Given the description of an element on the screen output the (x, y) to click on. 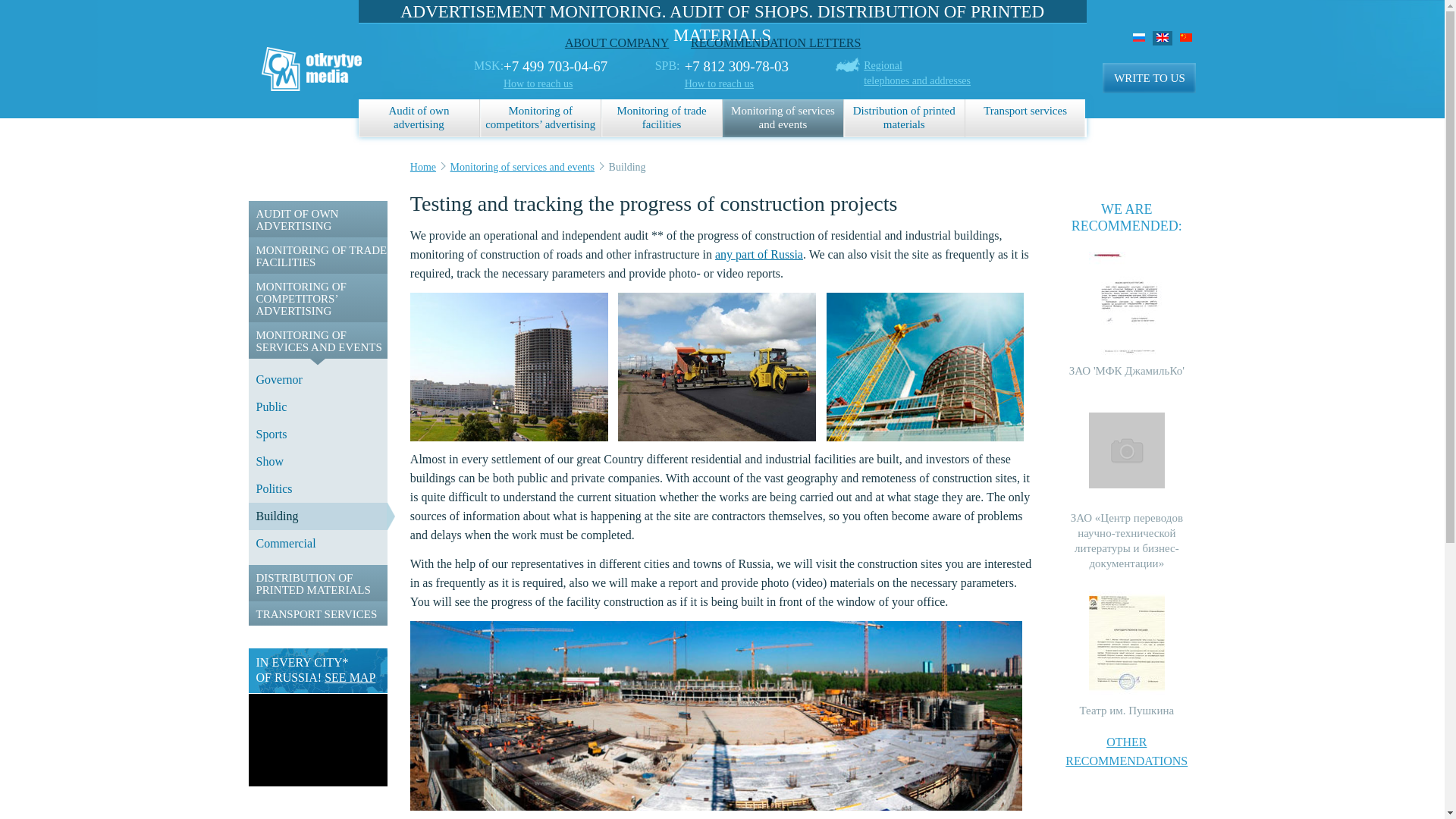
ABOUT COMPANY (616, 42)
Otkrytye Media (917, 73)
Distribution of printed materials (318, 56)
WRITE TO US (903, 118)
RECOMMENDATION LETTERS (1148, 78)
AUDIT OF OWN ADVERTISING (775, 42)
RECOMMENDATION LETTERS (661, 118)
WRITE TO US (418, 118)
How to reach us (317, 218)
How to reach us (775, 42)
About Company (782, 118)
